Given the description of an element on the screen output the (x, y) to click on. 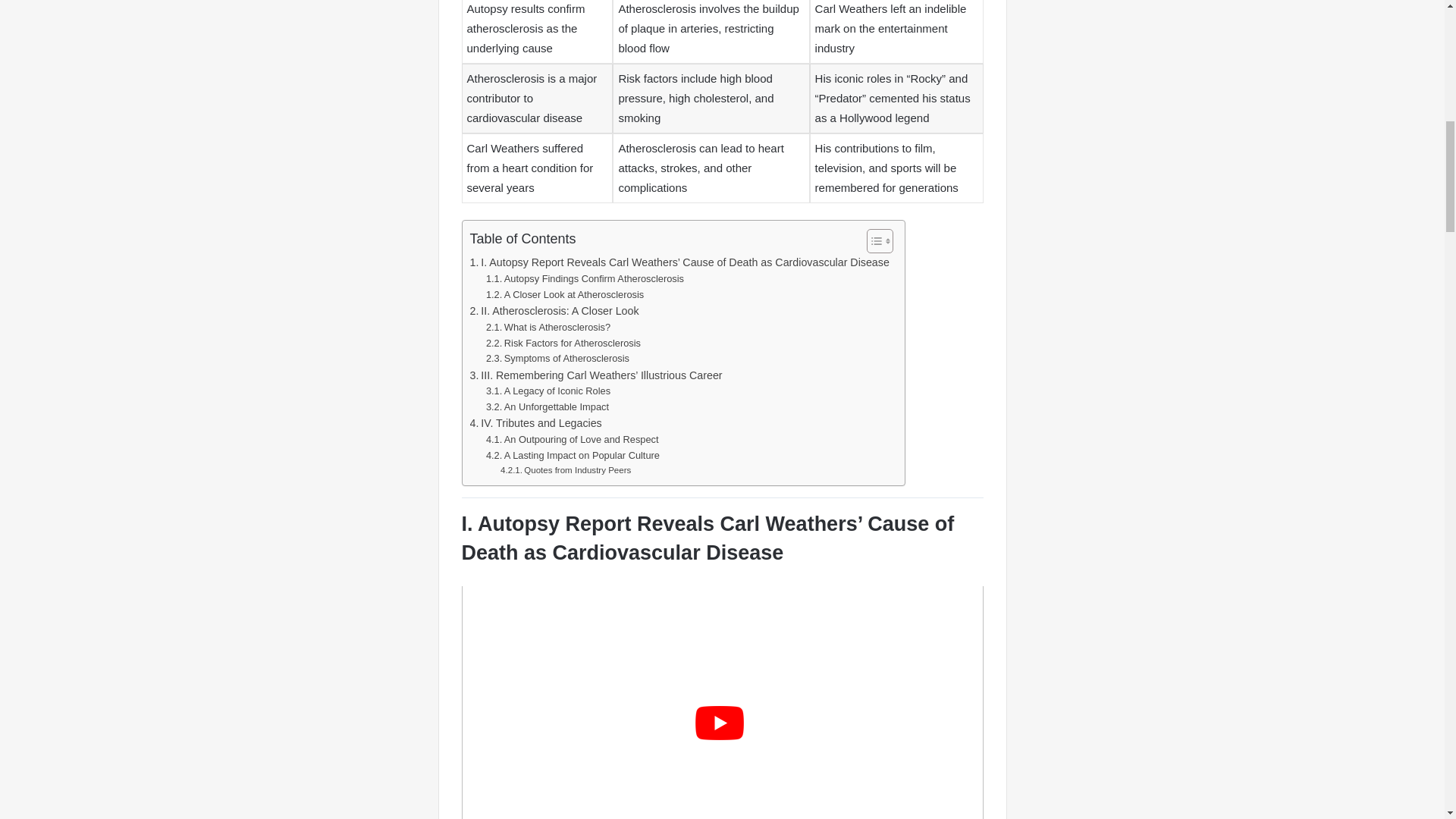
A Legacy of Iconic Roles (548, 391)
Autopsy Findings Confirm Atherosclerosis (585, 279)
II. Atherosclerosis: A Closer Look (554, 311)
Risk Factors for Atherosclerosis (563, 343)
Symptoms of Atherosclerosis (557, 358)
II. Atherosclerosis: A Closer Look (554, 311)
Quotes from Industry Peers (565, 469)
IV. Tributes and Legacies (536, 423)
An Unforgettable Impact (547, 407)
A Legacy of Iconic Roles (548, 391)
What is Atherosclerosis? (548, 327)
What is Atherosclerosis? (548, 327)
An Outpouring of Love and Respect (572, 439)
A Lasting Impact on Popular Culture (572, 455)
Risk Factors for Atherosclerosis (563, 343)
